Given the description of an element on the screen output the (x, y) to click on. 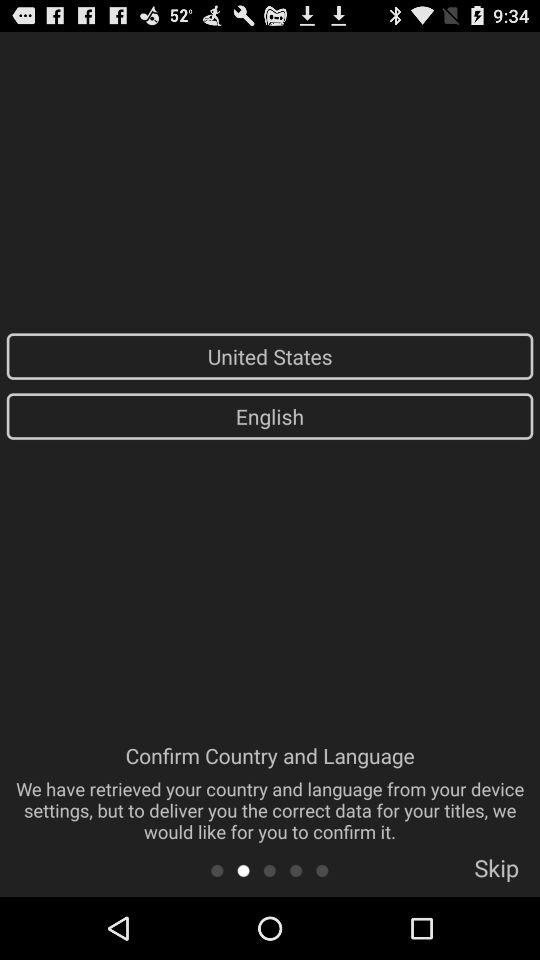
go to page five (321, 870)
